Given the description of an element on the screen output the (x, y) to click on. 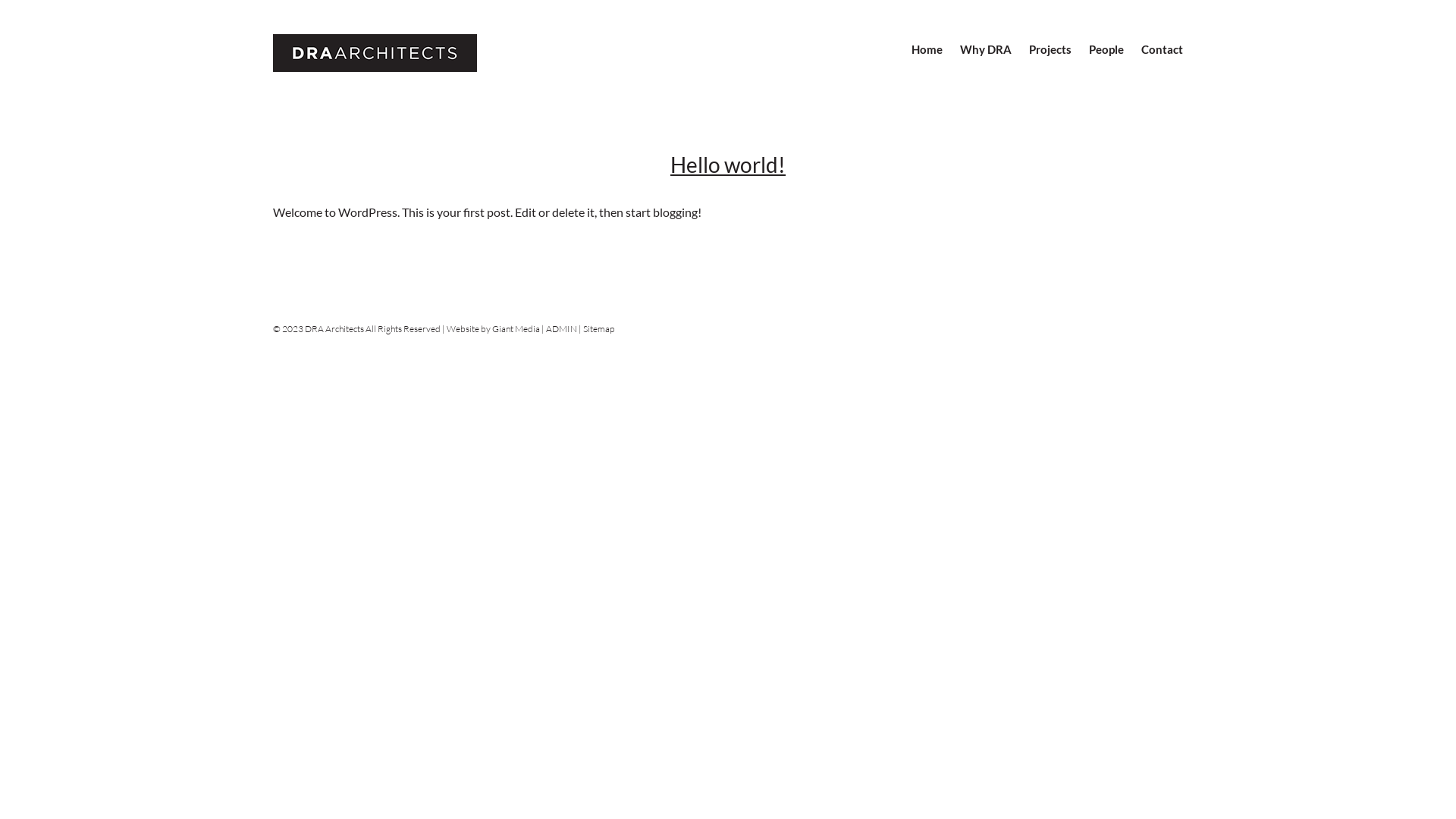
Projects Element type: text (1041, 57)
Sitemap Element type: text (598, 328)
Contact Element type: text (1153, 57)
People Element type: text (1097, 57)
Home Element type: text (918, 57)
Giant Media Element type: text (515, 328)
Why DRA Element type: text (976, 57)
ADMIN Element type: text (561, 328)
DRA Architects Element type: hover (419, 53)
